Given the description of an element on the screen output the (x, y) to click on. 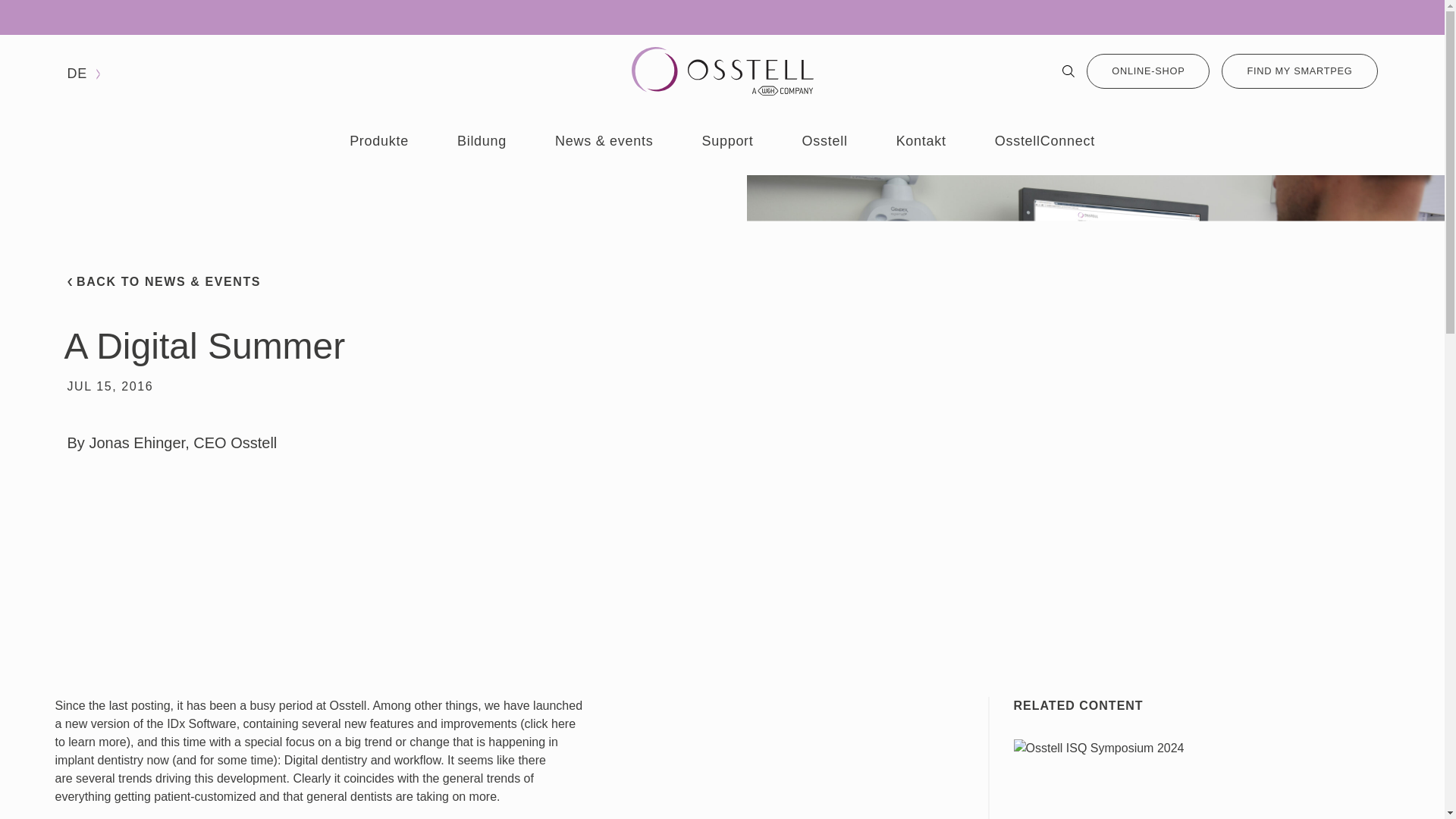
Kontakt (921, 140)
Support (726, 140)
Bildung (481, 140)
ONLINE-SHOP (1147, 71)
OsstellConnect (1044, 140)
Produkte (379, 140)
Osstell (824, 140)
FIND MY SMARTPEG (1299, 71)
